Given the description of an element on the screen output the (x, y) to click on. 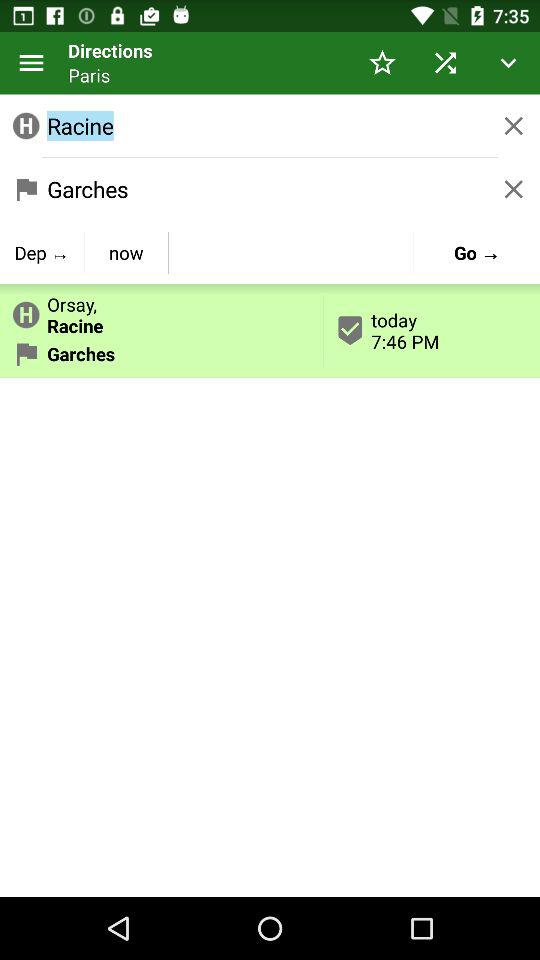
launch icon next to now button (42, 252)
